Given the description of an element on the screen output the (x, y) to click on. 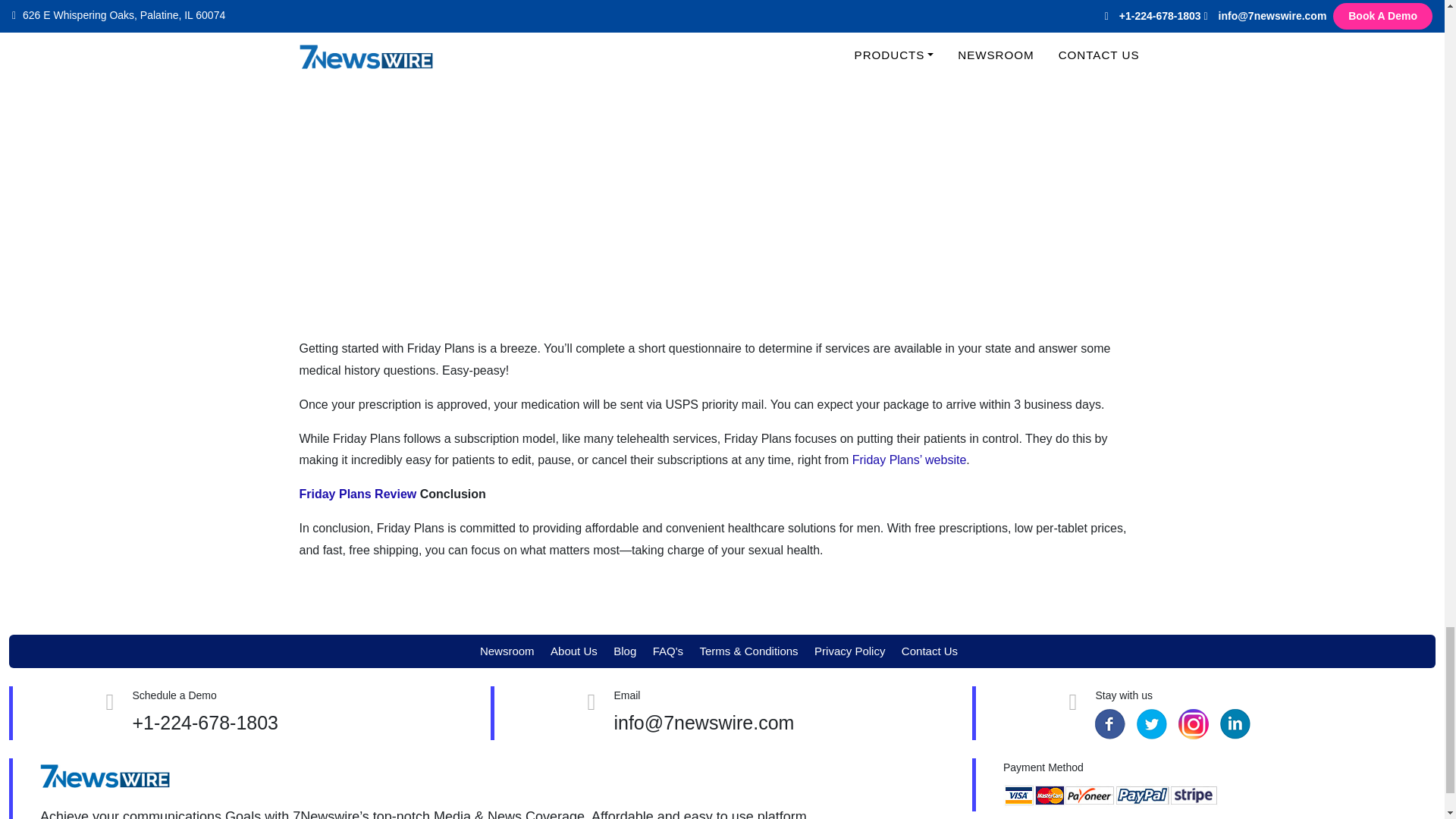
About Us (573, 650)
Newsroom (507, 650)
Friday Plans Review (357, 493)
Privacy Policy (849, 650)
FAQ's (667, 650)
Blog (624, 650)
